Given the description of an element on the screen output the (x, y) to click on. 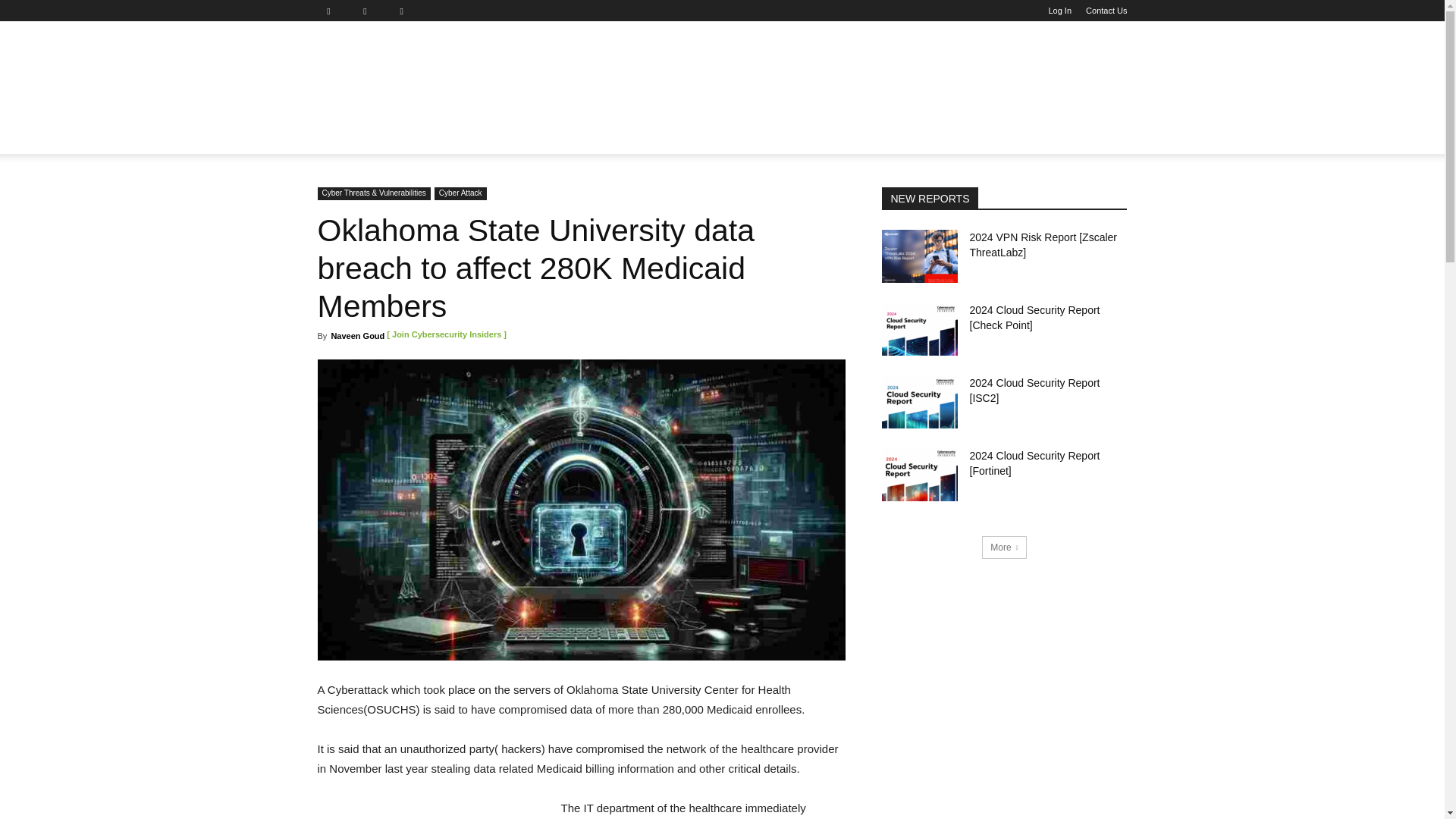
Contact Us (1106, 10)
Advertisement (829, 76)
NEWS (343, 135)
Twitter (407, 10)
Facebook (333, 10)
News (343, 135)
Linkedin (370, 10)
Log In (1059, 10)
